Given the description of an element on the screen output the (x, y) to click on. 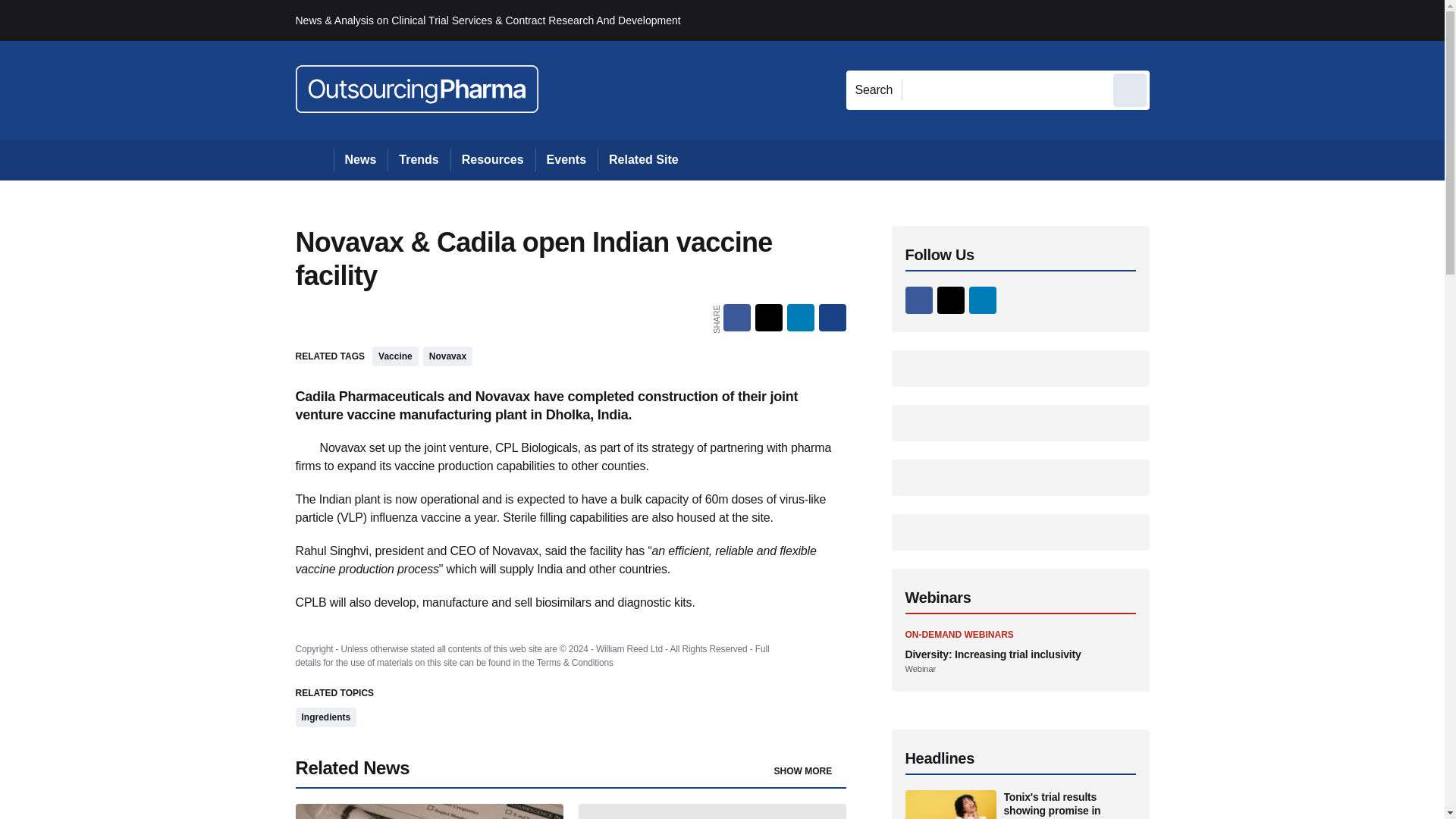
Sign in (1171, 20)
Home (314, 159)
Sign out (1174, 20)
Resources (492, 159)
Send (1129, 90)
My account (1256, 20)
REGISTER (1250, 20)
Home (313, 159)
Trends (418, 159)
News (360, 159)
